Given the description of an element on the screen output the (x, y) to click on. 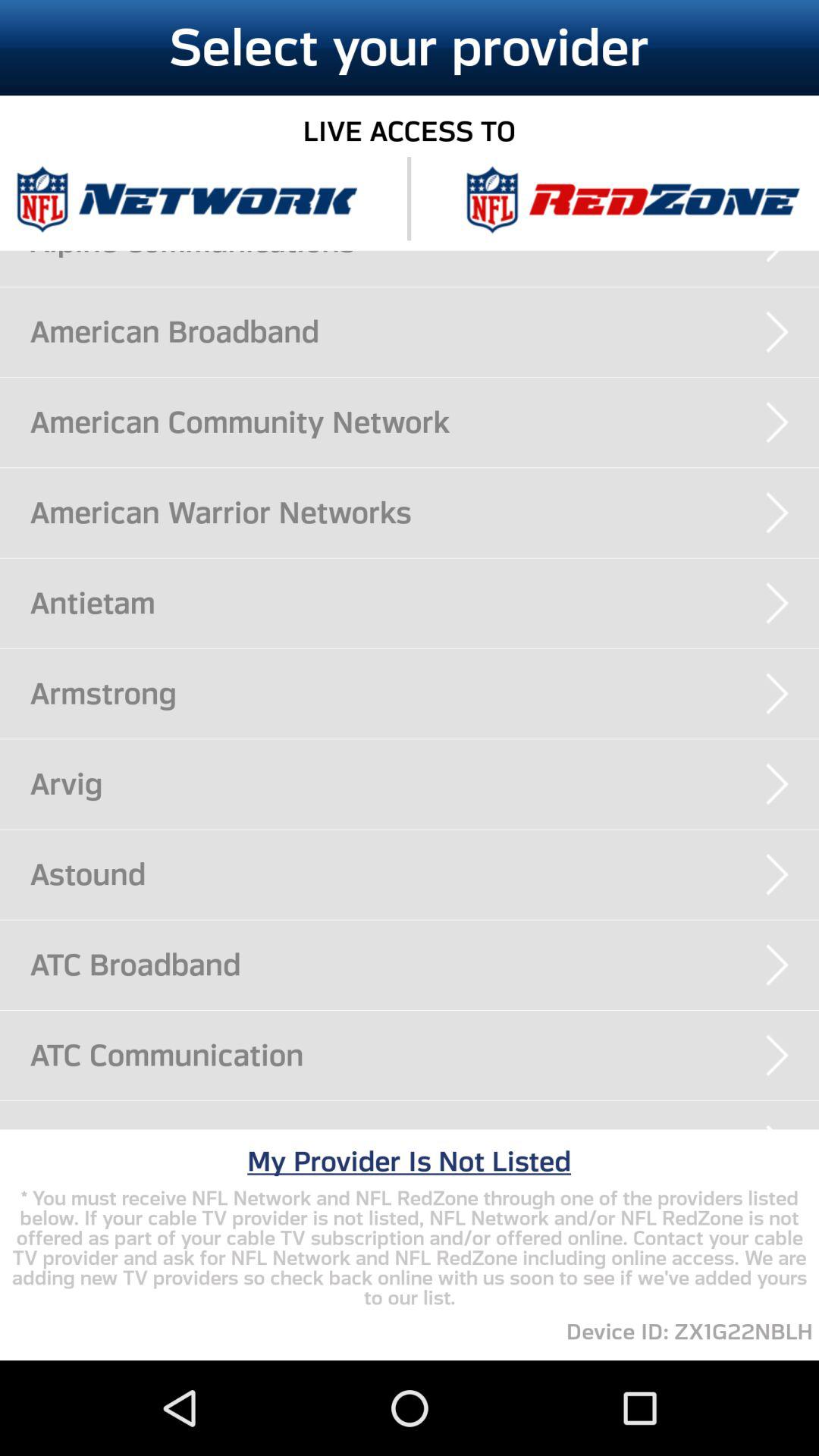
choose atc communication (424, 1055)
